Given the description of an element on the screen output the (x, y) to click on. 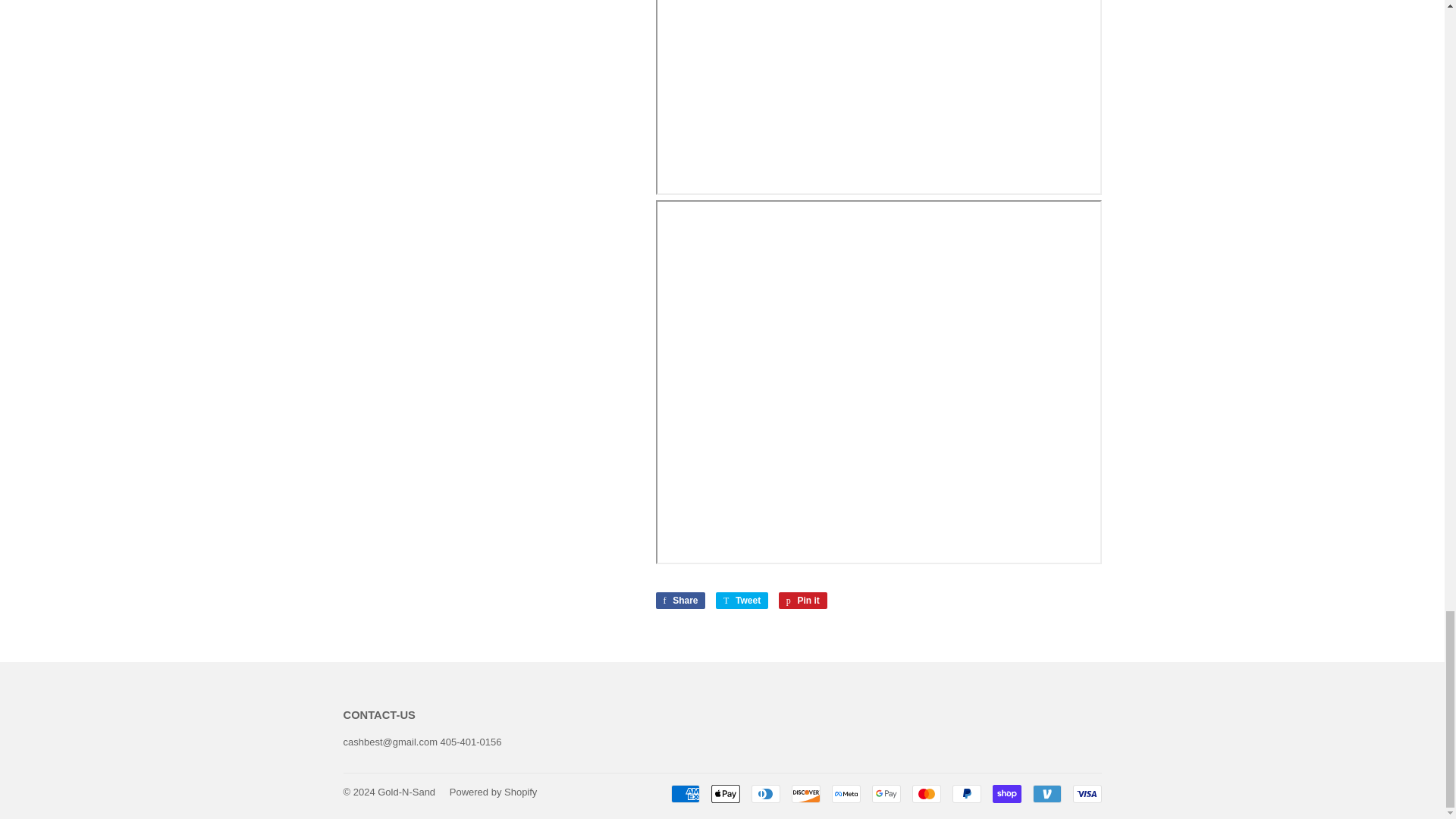
Share on Facebook (679, 600)
Discover (806, 793)
Pin on Pinterest (802, 600)
Mastercard (679, 600)
Visa (925, 793)
PayPal (1085, 793)
Venmo (966, 793)
Tweet on Twitter (1046, 793)
American Express (742, 600)
Powered by Shopify (683, 793)
Shop Pay (802, 600)
Meta Pay (493, 791)
